Given the description of an element on the screen output the (x, y) to click on. 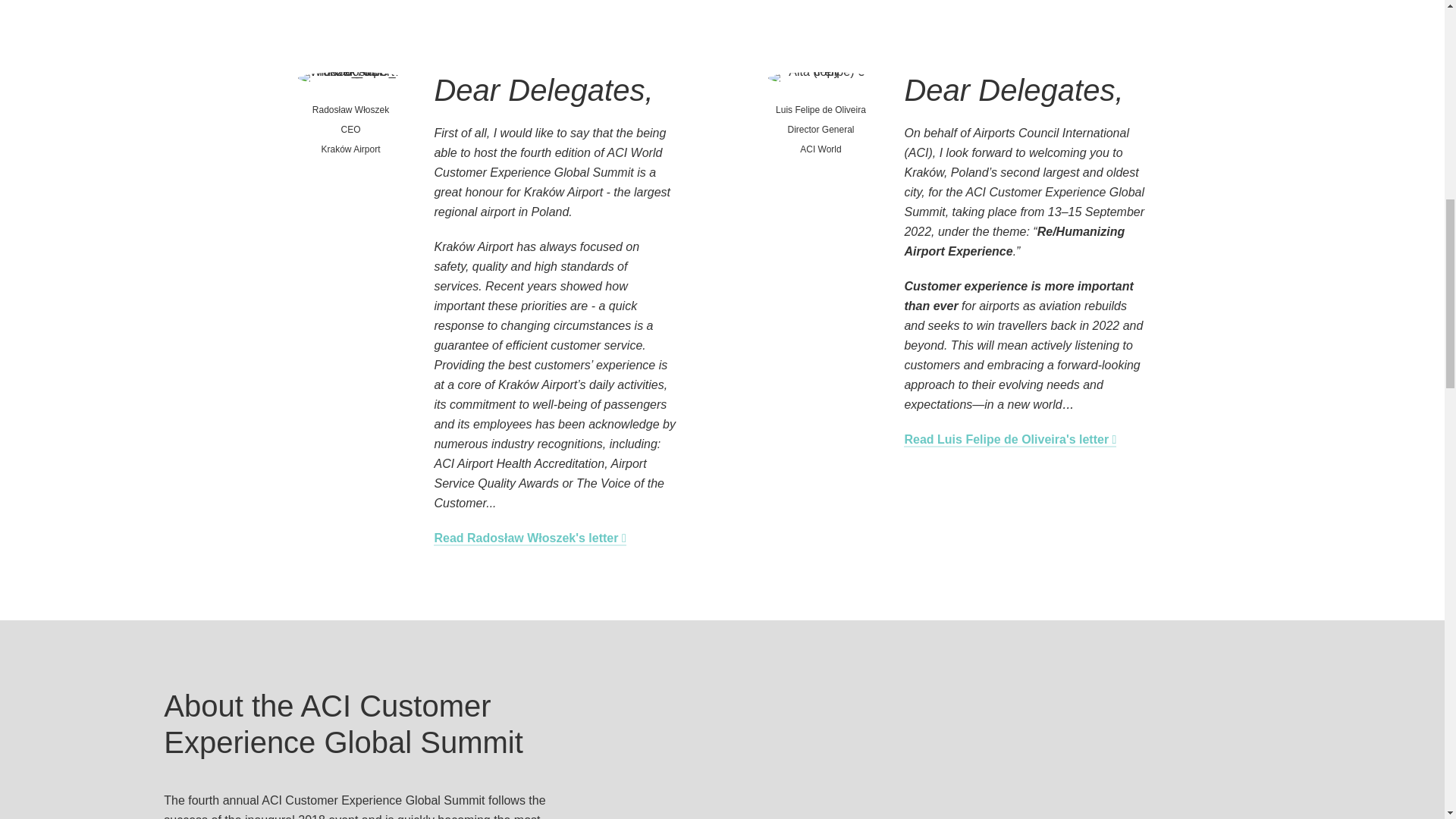
Read Luis Felipe de Oliveira's letter (1010, 440)
